Given the description of an element on the screen output the (x, y) to click on. 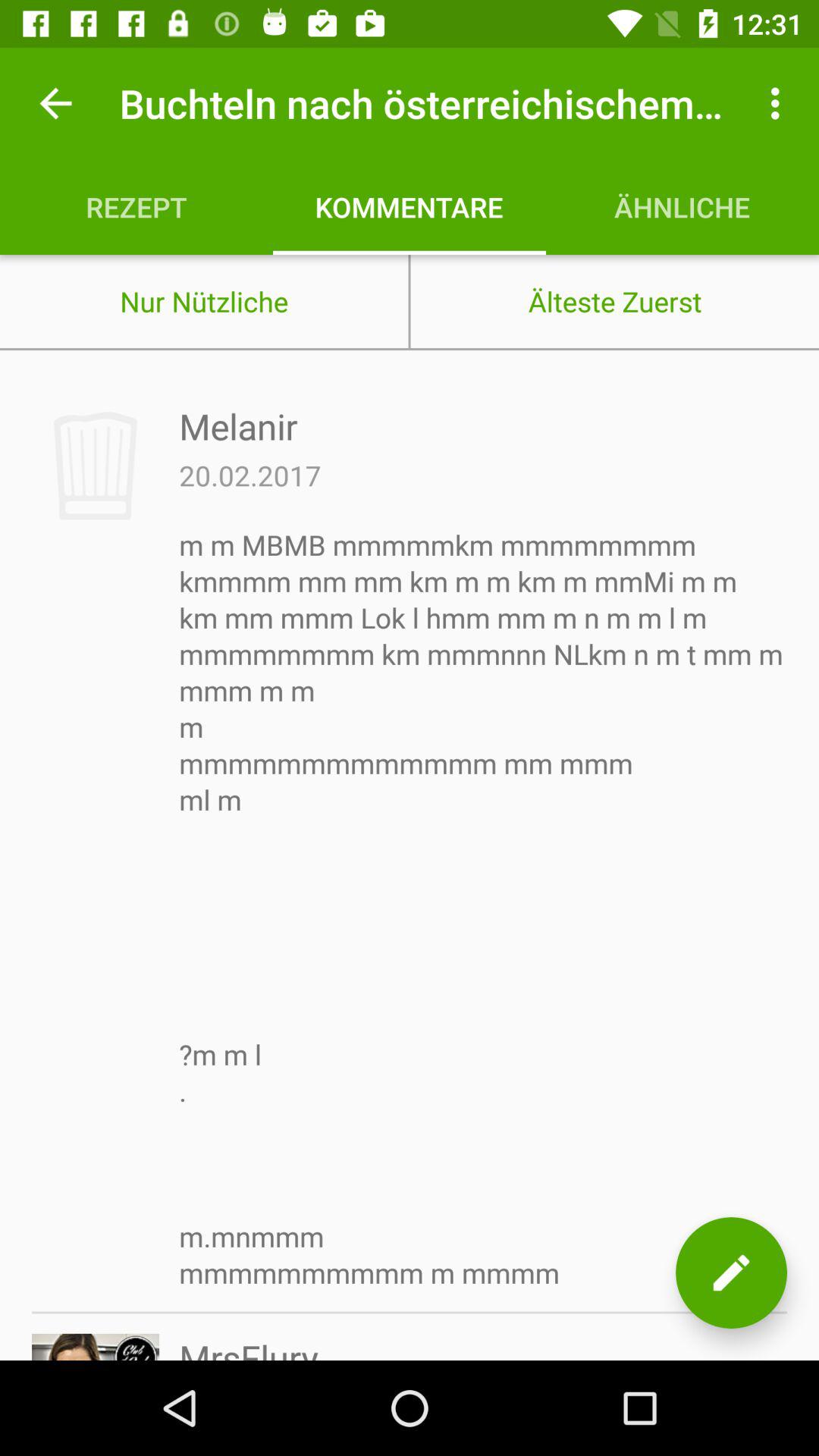
open the item above mrsflury (483, 908)
